Given the description of an element on the screen output the (x, y) to click on. 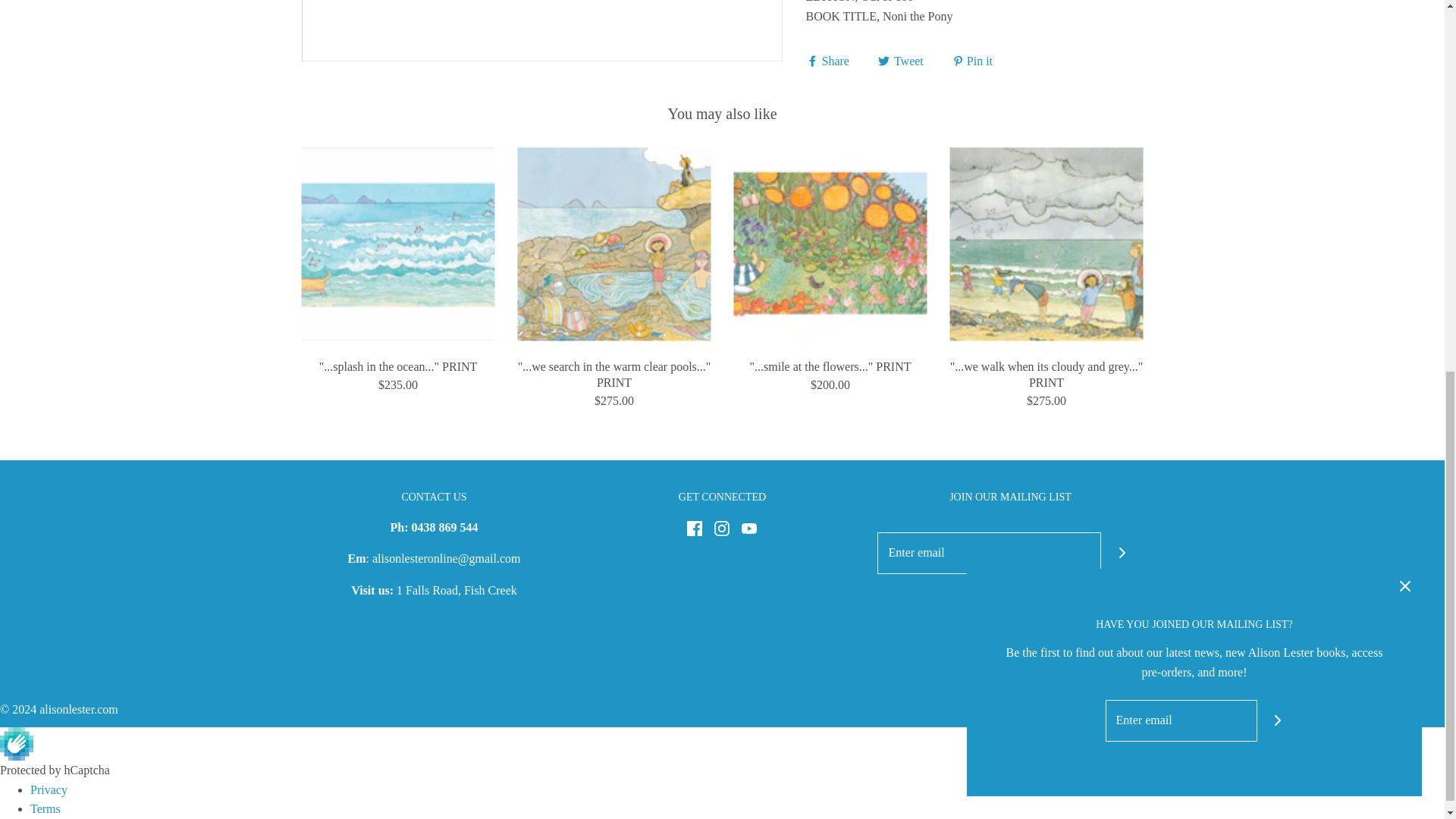
"...we walk when its cloudy and grey..." PRINT (1045, 243)
"...splash in the ocean..." PRINT (398, 243)
Instagram icon (721, 528)
YouTube icon (749, 528)
"...we search in the warm clear pools..." PRINT (613, 243)
Facebook icon (694, 528)
"...smile at the flowers..." PRINT (830, 243)
